Given the description of an element on the screen output the (x, y) to click on. 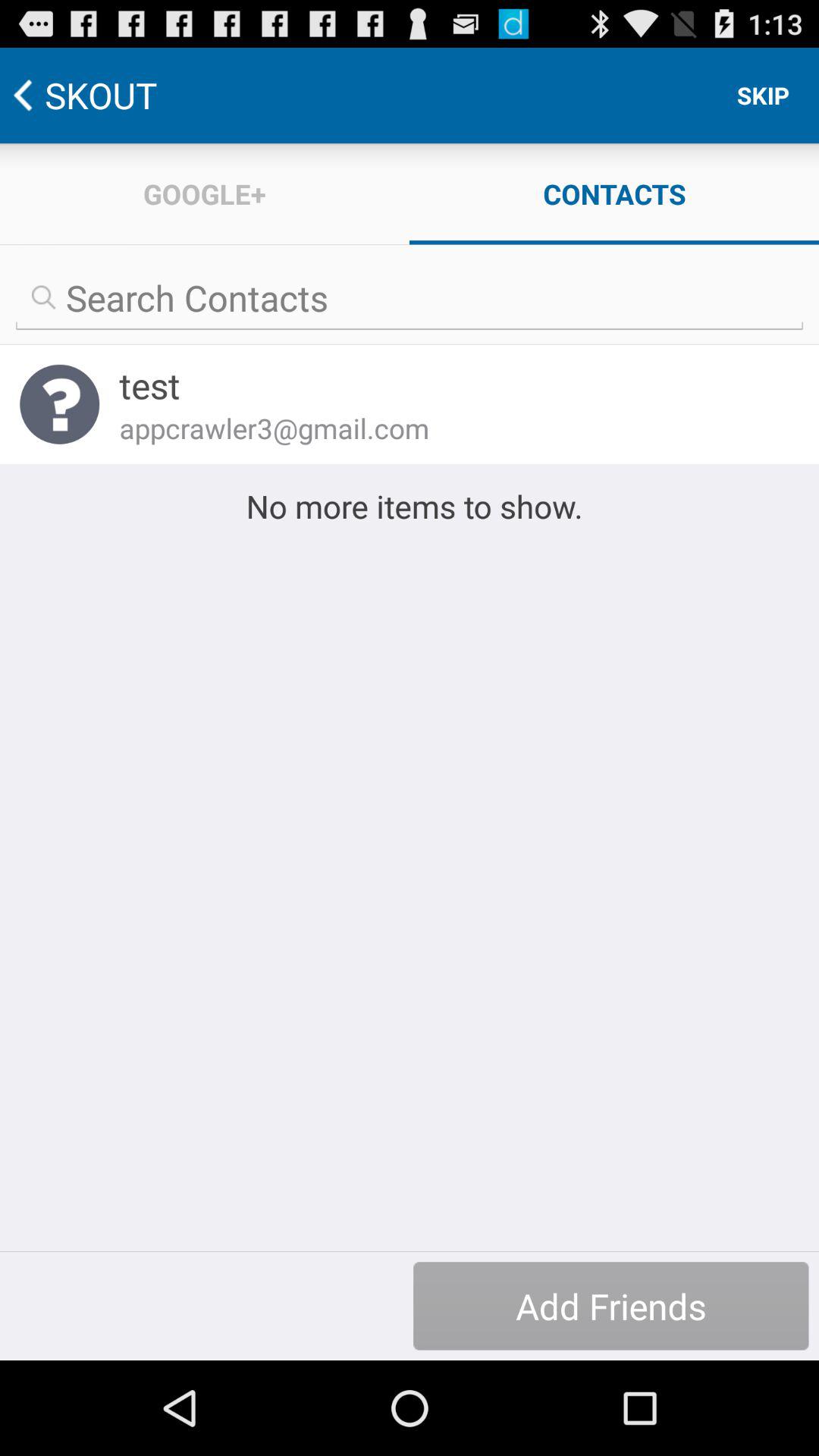
select the appcrawler3@gmail.com app (449, 428)
